Given the description of an element on the screen output the (x, y) to click on. 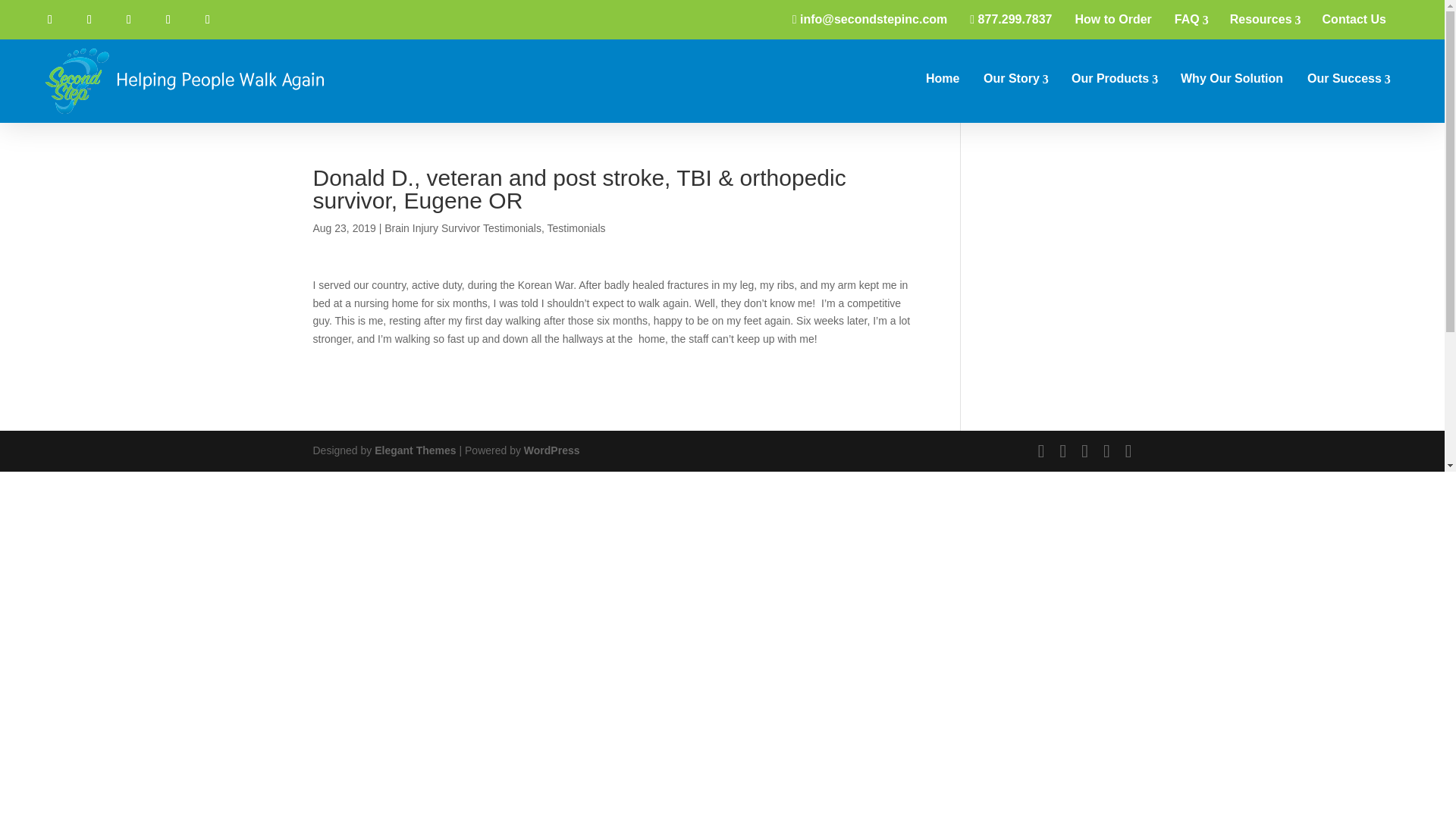
Follow on Youtube (128, 19)
877.299.7837 (1010, 19)
Contact Us (1354, 19)
Follow on X (89, 19)
Follow on Instagram (167, 19)
Follow on Pinterest (207, 19)
Our Story (1015, 78)
How to Order (1111, 19)
Premium WordPress Themes (414, 450)
FAQ (1190, 19)
